Given the description of an element on the screen output the (x, y) to click on. 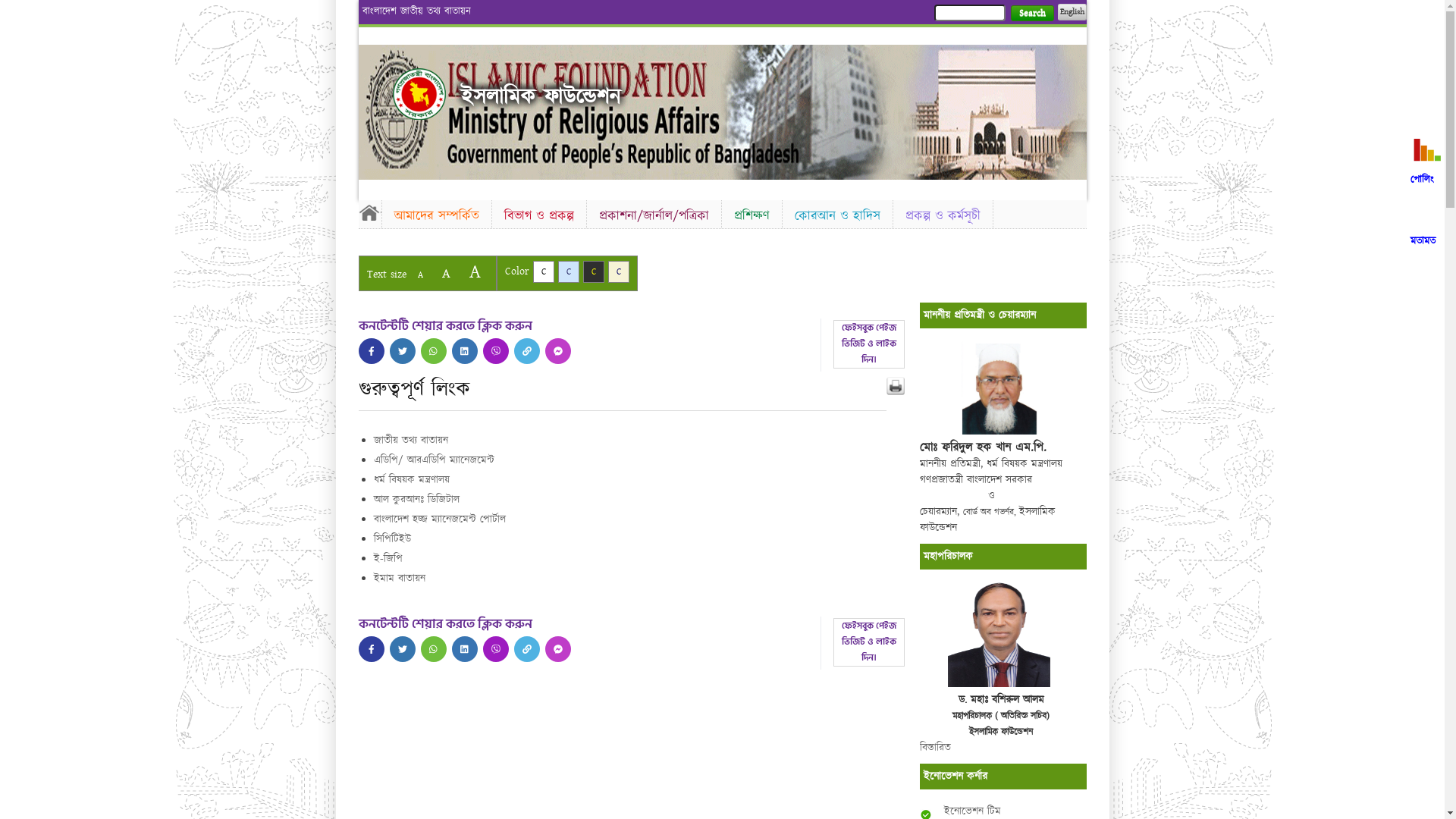
A Element type: text (419, 274)
A Element type: text (445, 273)
C Element type: text (592, 271)
A Element type: text (474, 271)
English Element type: text (1071, 11)
Home Element type: hover (368, 211)
Home Element type: hover (418, 93)
Search Element type: text (1031, 13)
C Element type: text (568, 271)
C Element type: text (542, 271)
C Element type: text (618, 271)
